Given the description of an element on the screen output the (x, y) to click on. 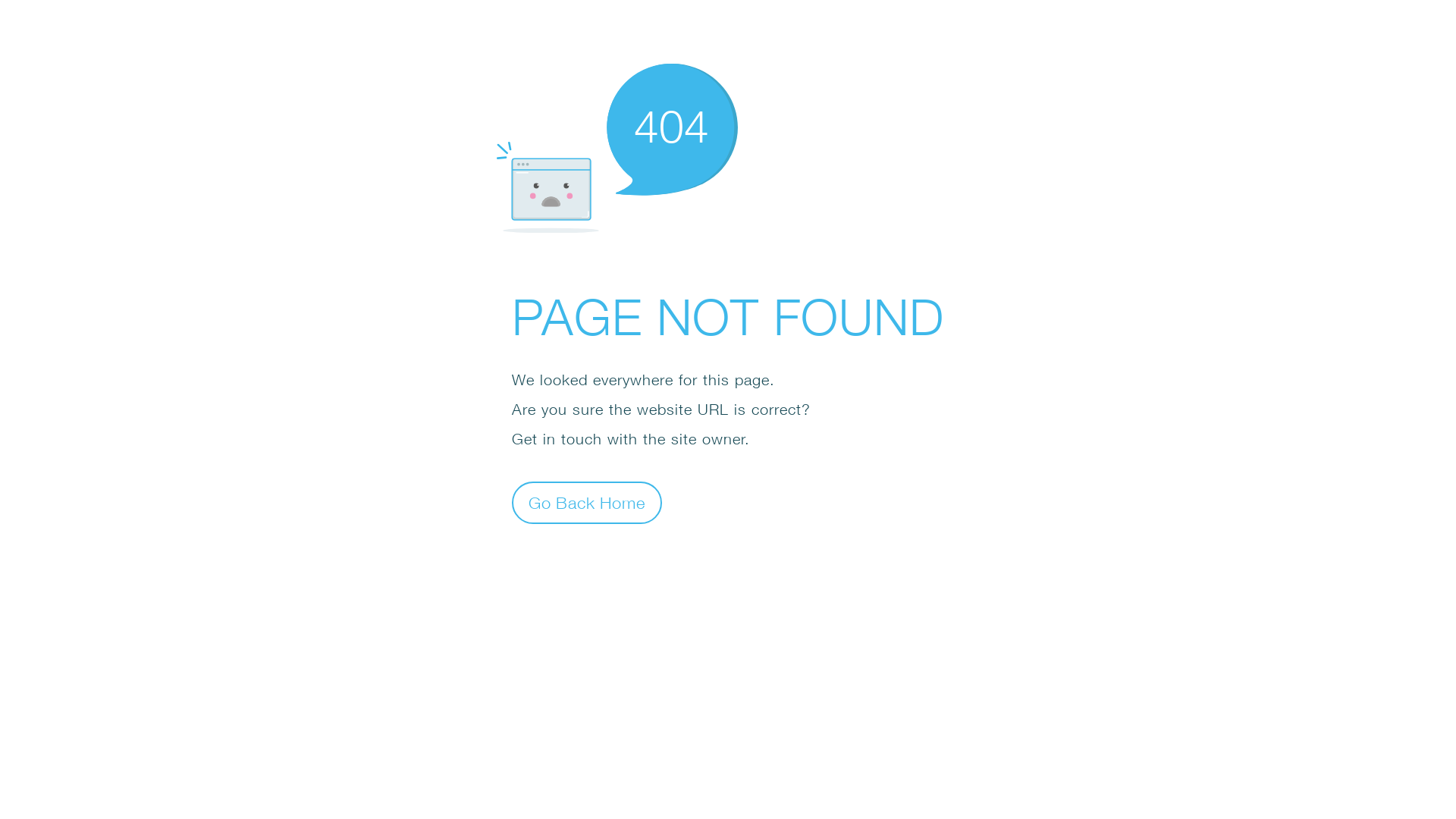
Go Back Home Element type: text (586, 502)
